Given the description of an element on the screen output the (x, y) to click on. 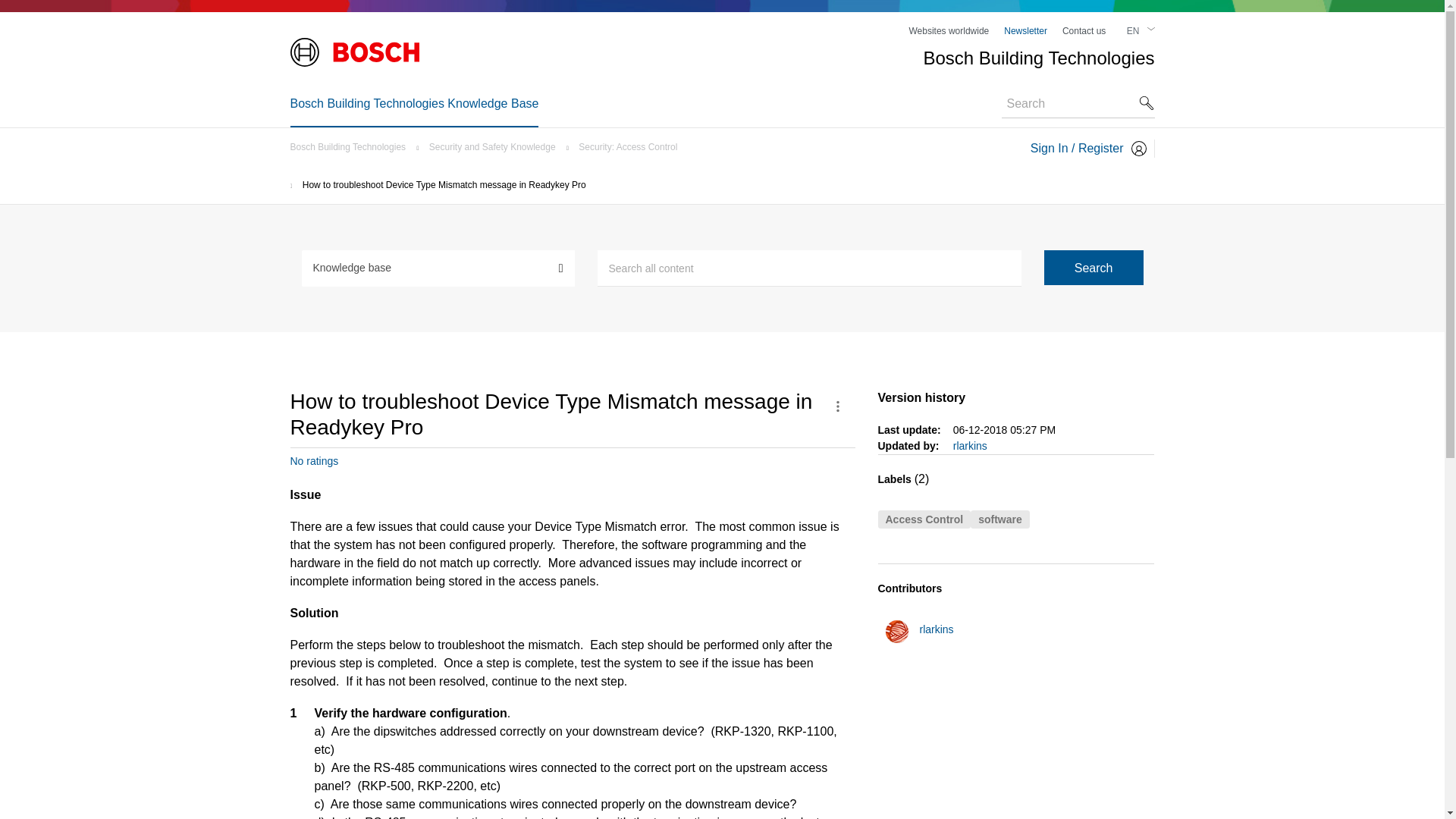
Newsletter (1025, 30)
Bosch Building Technologies Knowledge Base (413, 103)
Icon arrow-down-thin (1150, 28)
Show option menu (837, 406)
Search (1092, 267)
Search (1092, 267)
Search Granularity (438, 267)
Search (809, 268)
Bosch Building Technologies (351, 146)
Websites worldwide (948, 30)
rlarkins (896, 630)
Security and Safety Knowledge (496, 146)
Security: Access Control (631, 146)
Contact us (1083, 30)
